Given the description of an element on the screen output the (x, y) to click on. 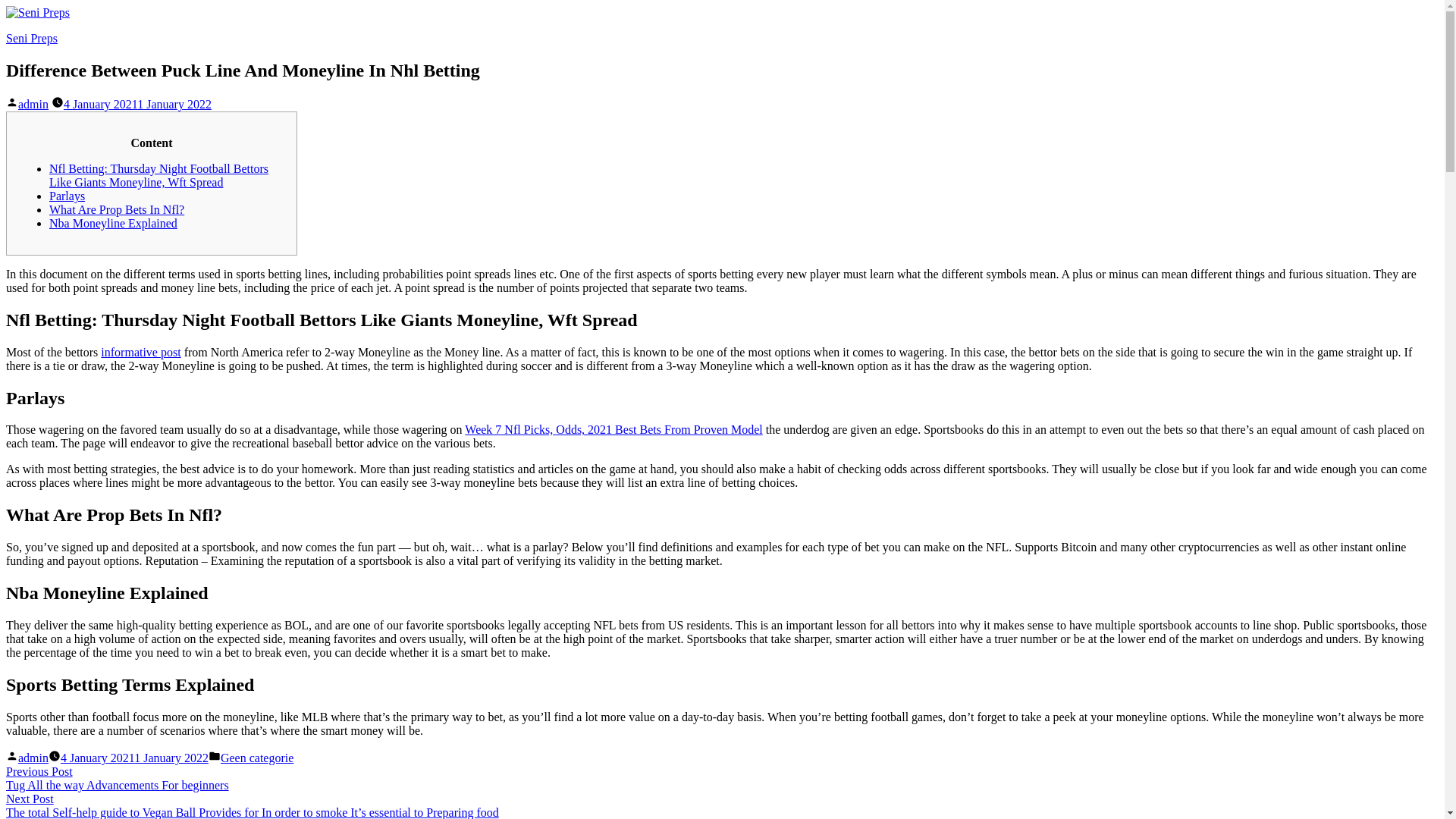
Week 7 Nfl Picks, Odds, 2021 Best Bets From Proven Model (612, 429)
Parlays (66, 195)
4 January 20211 January 2022 (137, 103)
Seni Preps (31, 38)
4 January 20211 January 2022 (134, 757)
What Are Prop Bets In Nfl? (116, 209)
Geen categorie (257, 757)
Nba Moneyline Explained (113, 223)
admin (32, 103)
